Given the description of an element on the screen output the (x, y) to click on. 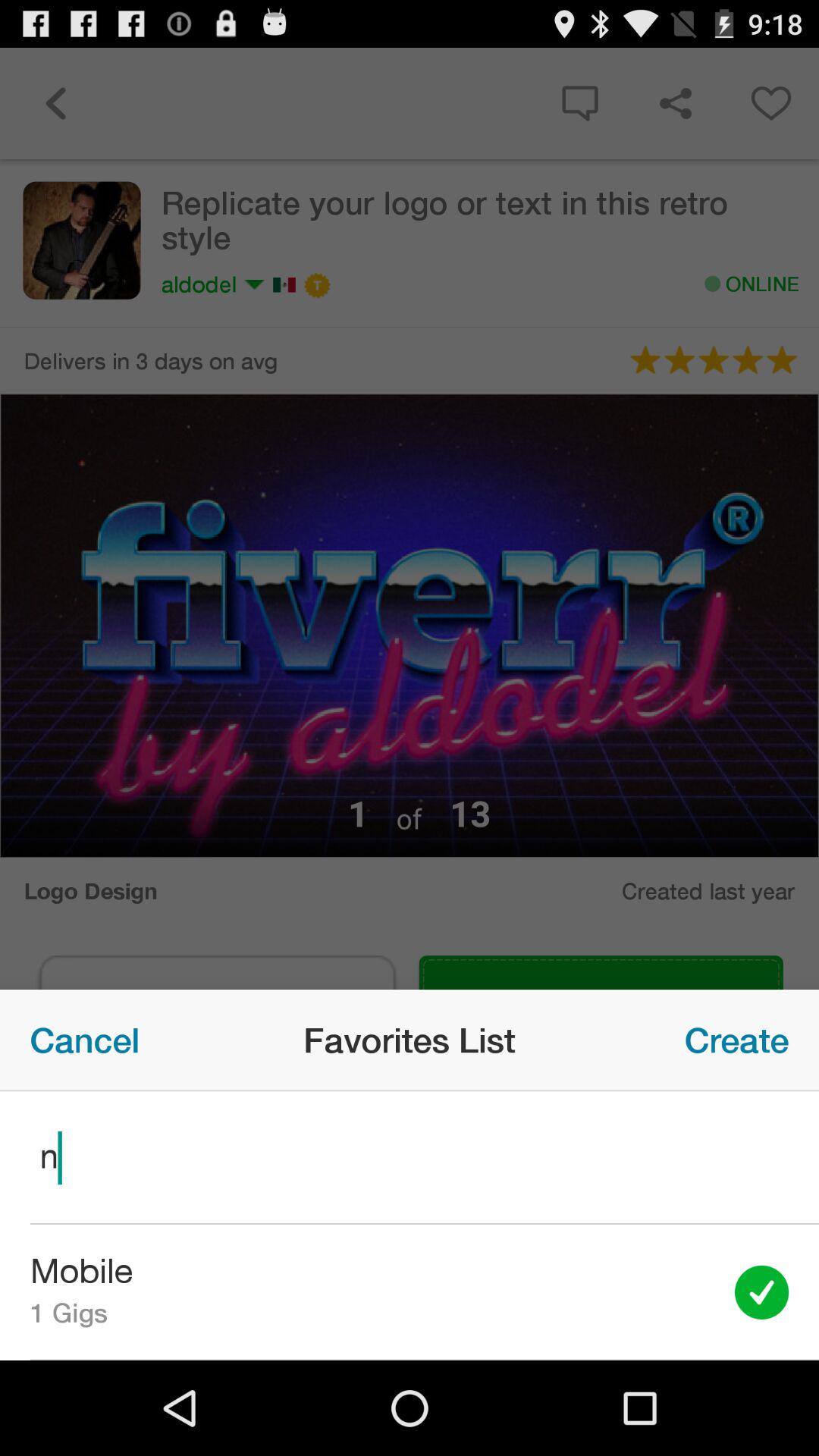
launch item next to the favorites list (84, 1039)
